Given the description of an element on the screen output the (x, y) to click on. 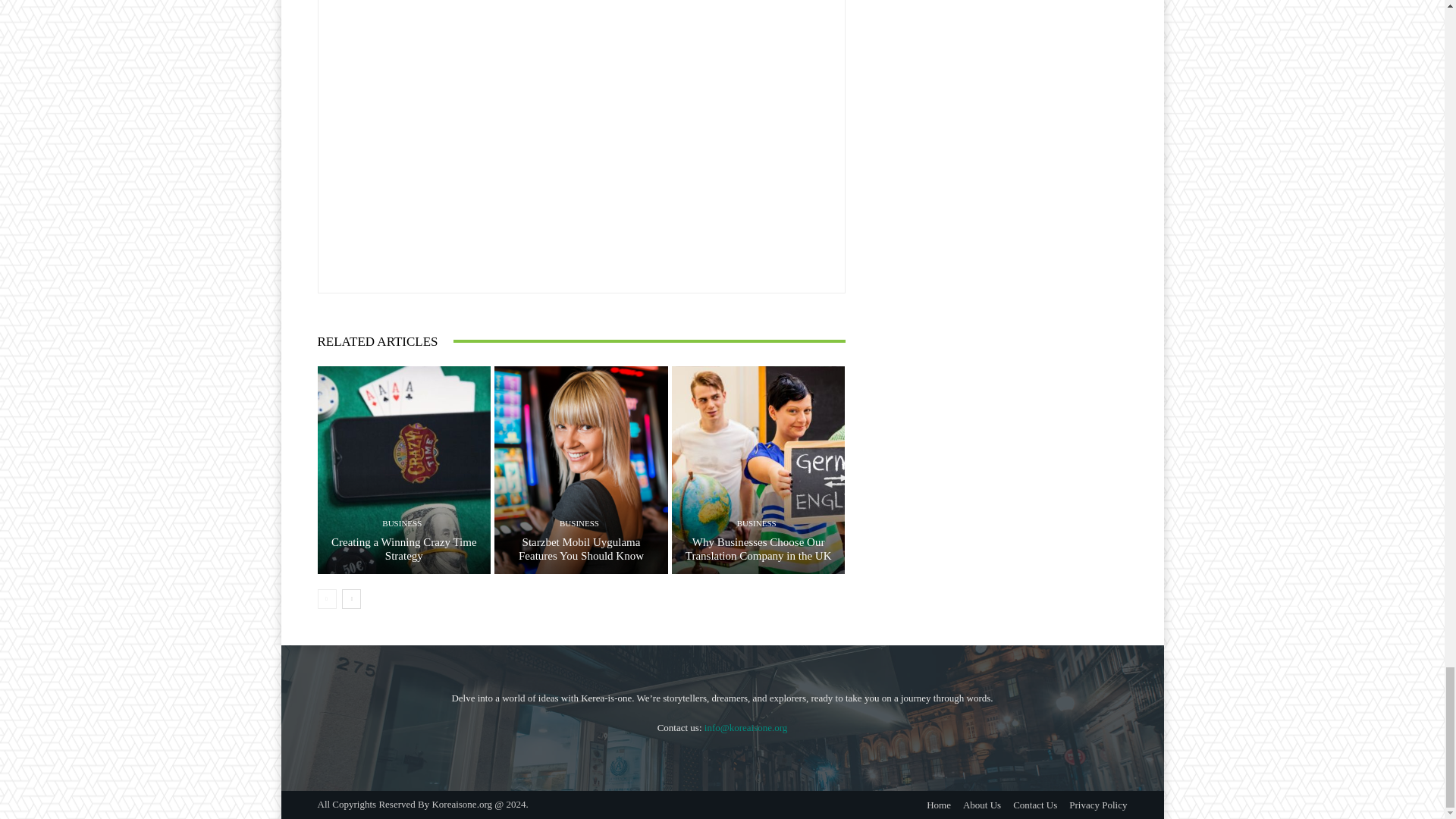
admin (523, 138)
